Given the description of an element on the screen output the (x, y) to click on. 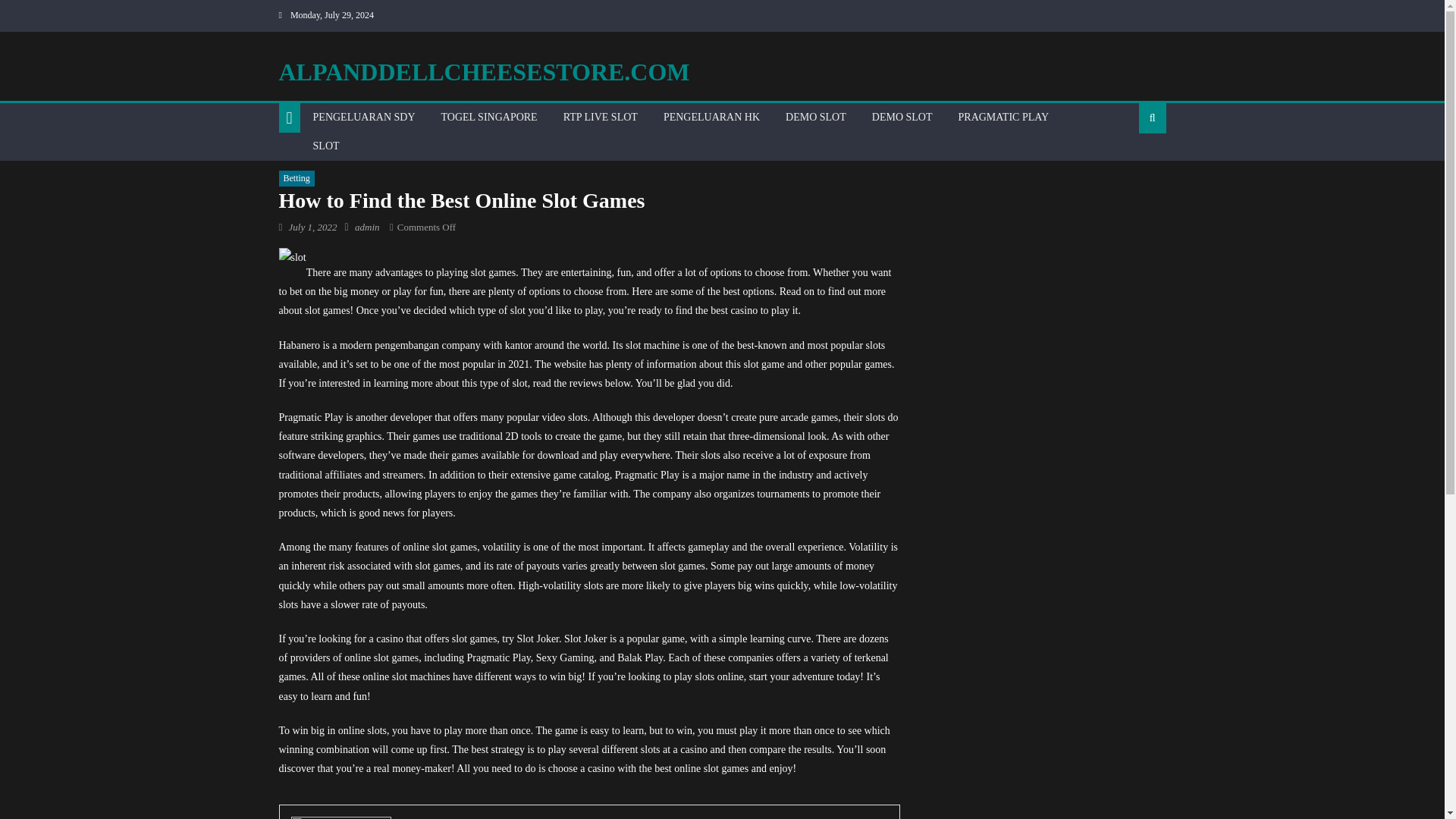
SLOT (325, 145)
TOGEL SINGAPORE (488, 117)
July 1, 2022 (312, 226)
Betting (296, 178)
DEMO SLOT (901, 117)
PENGELUARAN HK (711, 117)
PENGELUARAN SDY (363, 117)
admin (367, 226)
ALPANDDELLCHEESESTORE.COM (484, 71)
RTP LIVE SLOT (600, 117)
DEMO SLOT (815, 117)
PRAGMATIC PLAY (1004, 117)
Search (1128, 166)
